Given the description of an element on the screen output the (x, y) to click on. 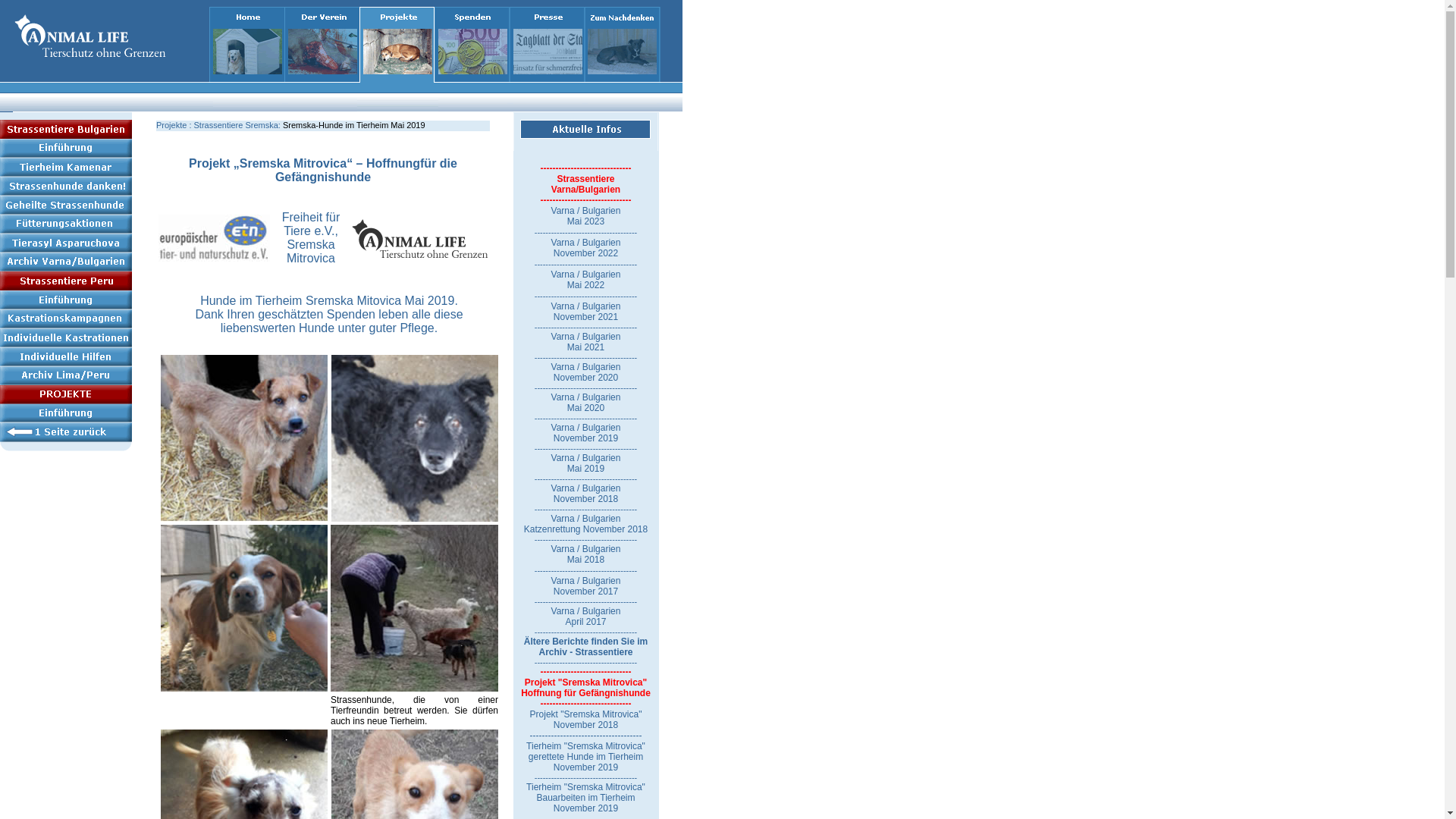
November 2019 Element type: text (585, 806)
Varna / Bulgarien
Mai 2022 Element type: text (586, 279)
Varna / Bulgarien
November 2019 Element type: text (586, 432)
Varna / Bulgarien
November 2018 Element type: text (586, 493)
Varna / Bulgarien
November 2020 Element type: text (586, 371)
Varna / Bulgarien
Mai 2019 Element type: text (586, 462)
Varna / Bulgarien
April 2017 Element type: text (586, 616)
Varna / Bulgarien
November 2022 Element type: text (594, 253)
Varna / Bulgarien
Mai 2020 Element type: text (586, 402)
Varna / Bulgarien
Mai 2018 Element type: text (586, 553)
Varna / Bulgarien
Mai 2021 Element type: text (586, 340)
Varna / Bulgarien
November 2017 Element type: text (586, 585)
Strassentiere Sremska Element type: text (236, 124)
Tierheim "Sremska Mitrovica"
Bauarbeiten im Tierheim Element type: text (585, 792)
Tierheim "Sremska Mitrovica"
gerettete Hunde im Tierheim Element type: text (585, 751)
Varna / Bulgarien
Katzenrettung November 2018 Element type: text (585, 523)
Projekte Element type: text (171, 124)
Projekt "Sremska Mitrovica"
November 2018 Element type: text (586, 719)
Varna / Bulgarien
November 2021 Element type: text (586, 311)
Varna / Bulgarien
Mai 2023 Element type: text (586, 215)
November 2019 Element type: text (585, 766)
